Given the description of an element on the screen output the (x, y) to click on. 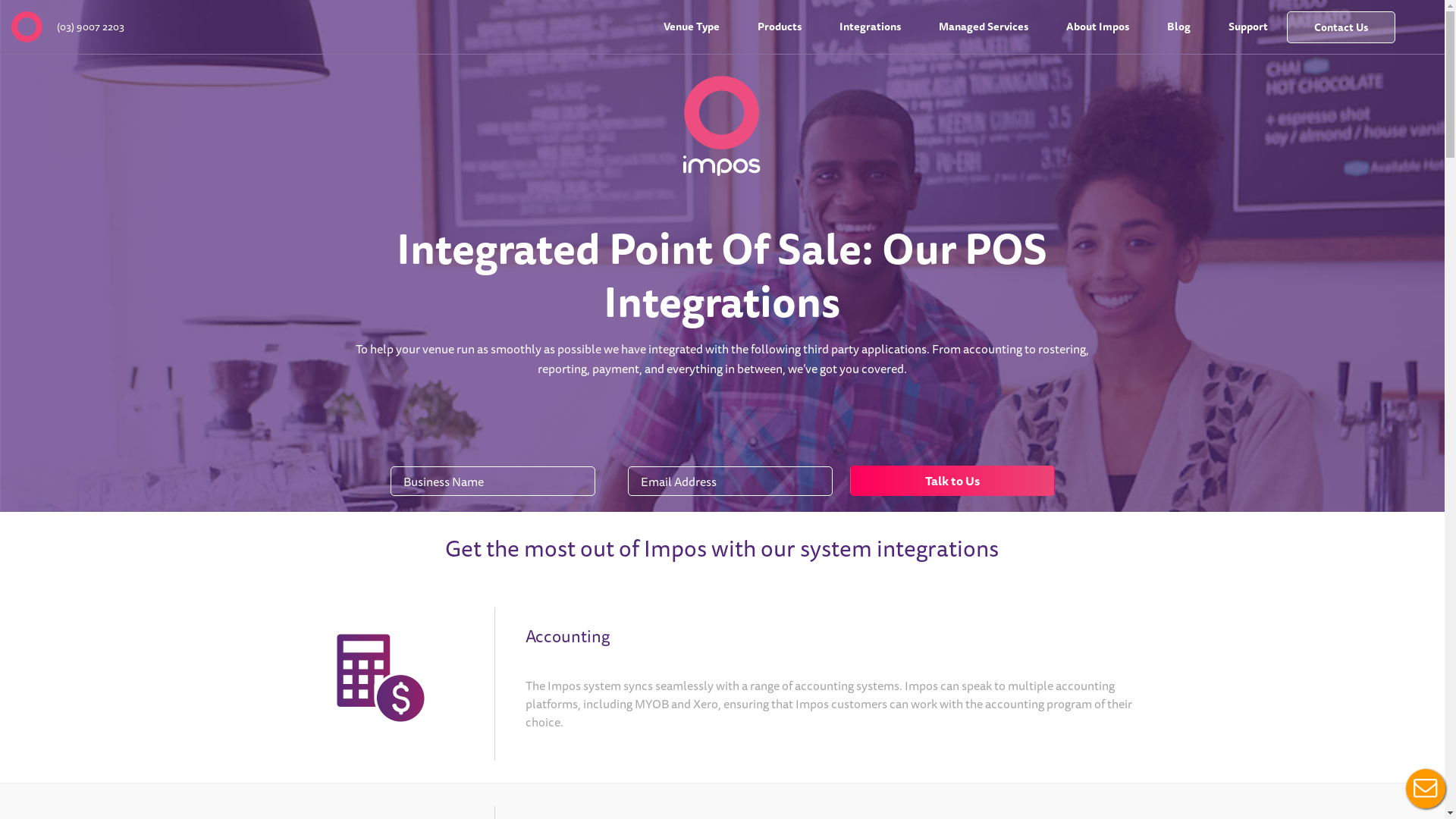
Accounting Element type: text (566, 635)
Live Chat Button Element type: hover (1425, 788)
Support Element type: text (1247, 26)
Blog Element type: text (1178, 26)
Integrations Element type: text (869, 26)
Contact Us Element type: text (1340, 27)
Products Element type: text (779, 26)
Managed Services Element type: text (983, 26)
(03) 9007 2203 Element type: text (90, 26)
Venue Type Element type: text (691, 26)
About Impos Element type: text (1097, 26)
Talk to Us Element type: text (951, 480)
